Given the description of an element on the screen output the (x, y) to click on. 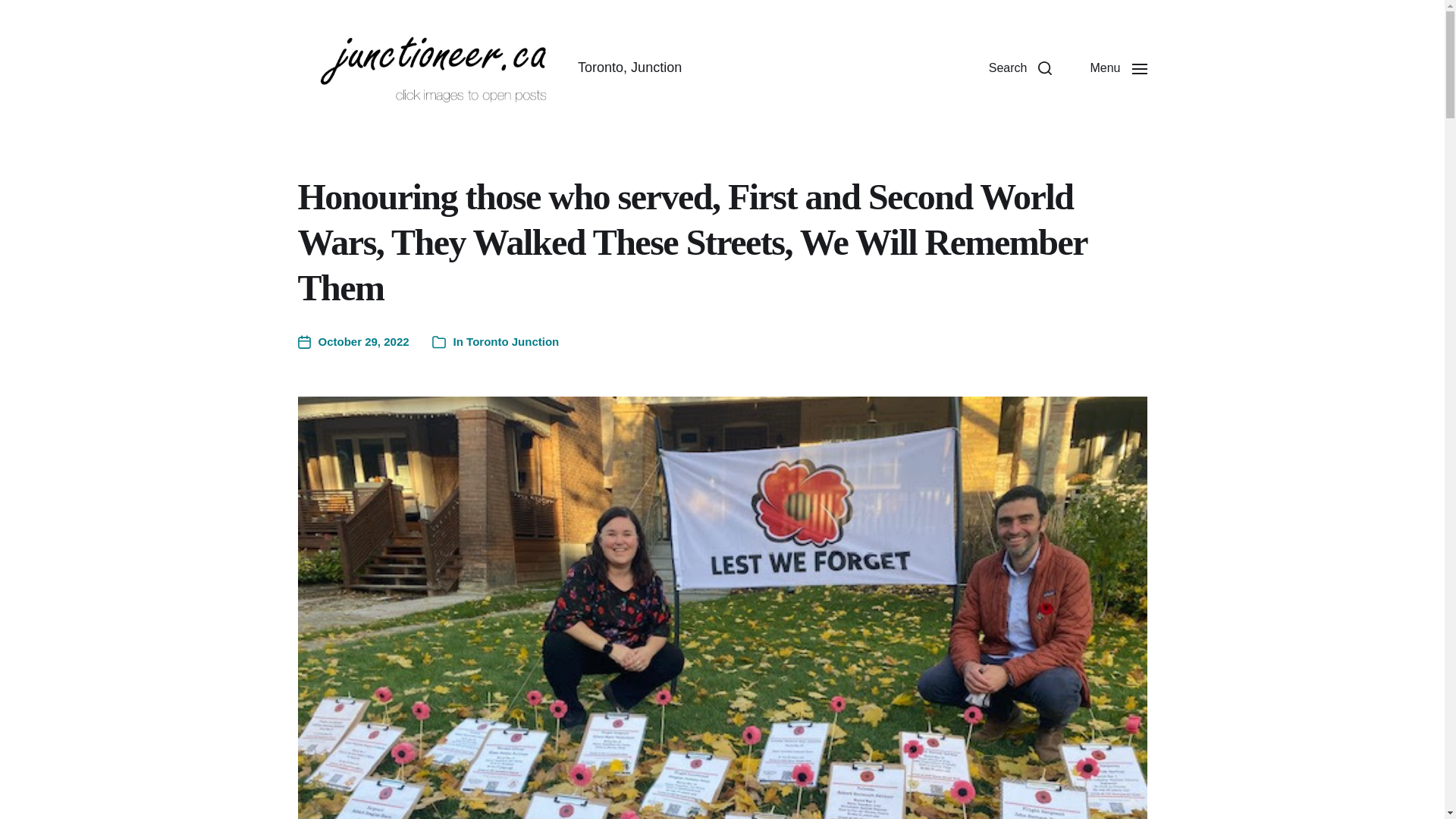
Search (1020, 68)
Menu (1118, 68)
Toronto Junction (512, 341)
October 29, 2022 (353, 342)
